Given the description of an element on the screen output the (x, y) to click on. 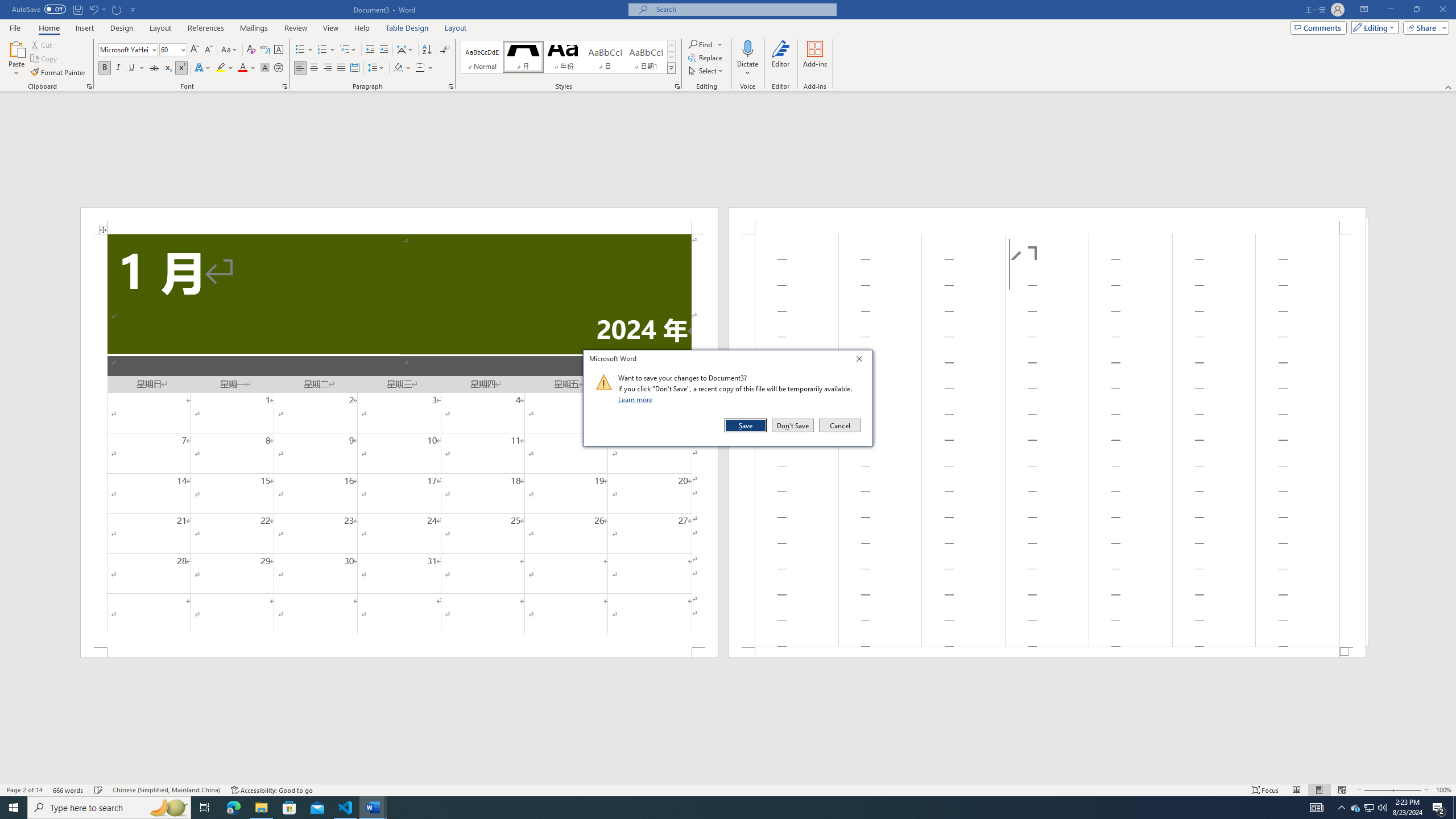
Font Color RGB(255, 0, 0) (241, 67)
